Given the description of an element on the screen output the (x, y) to click on. 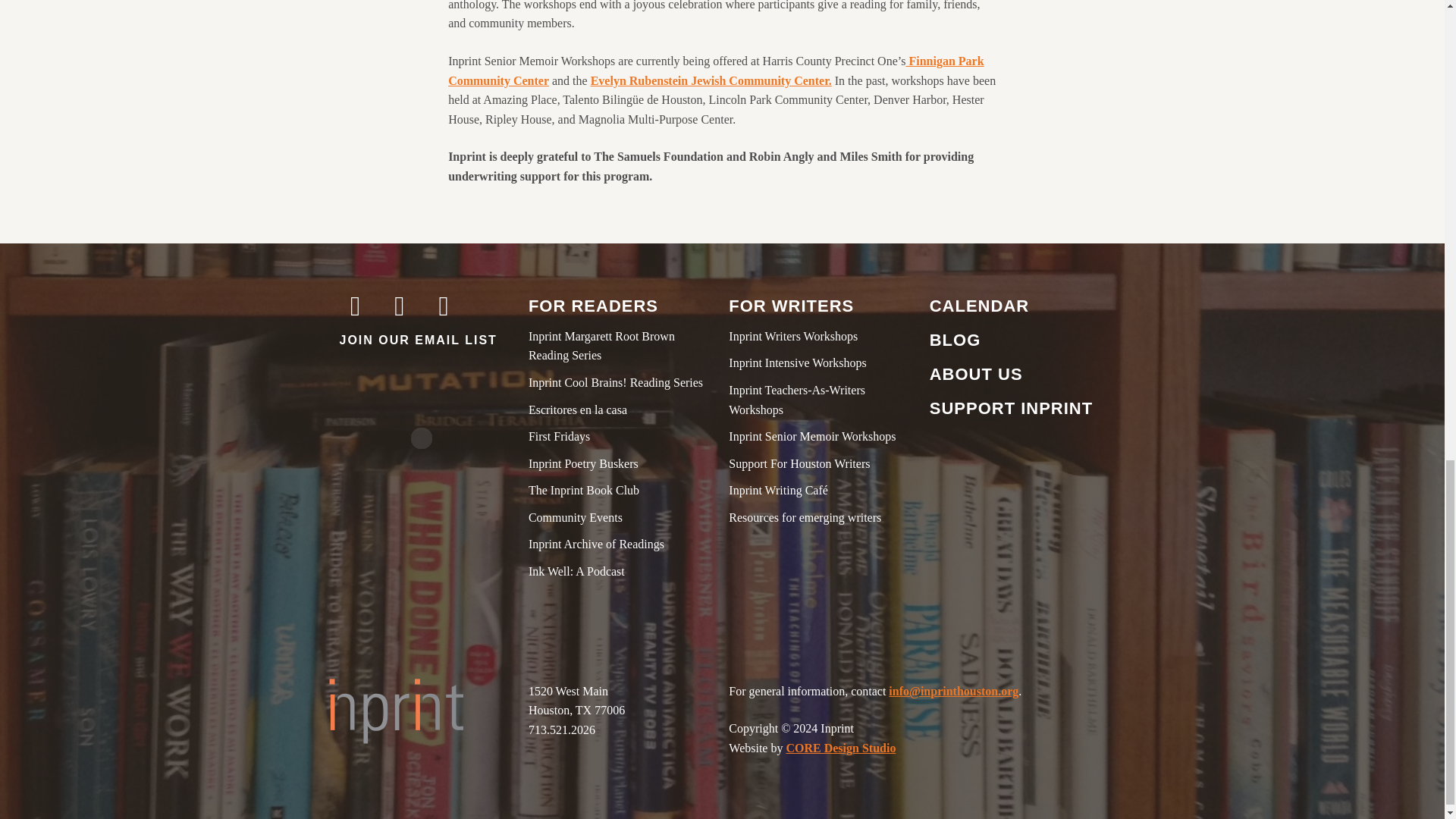
Ink Well: A Podcast (622, 571)
Community Events (622, 517)
Inprint Poetry Buskers (622, 464)
Escritores en la casa (622, 410)
First Fridays (622, 436)
Inprint Archive of Readings (622, 544)
Finnigan Park Community Center (716, 70)
Inprint Cool Brains! Reading Series (622, 383)
FOR READERS (622, 305)
linkedin (487, 333)
The Inprint Book Club (622, 490)
Inprint Margarett Root Brown Reading Series (622, 345)
Evelyn Rubenstein Jewish Community Center. (711, 80)
